Given the description of an element on the screen output the (x, y) to click on. 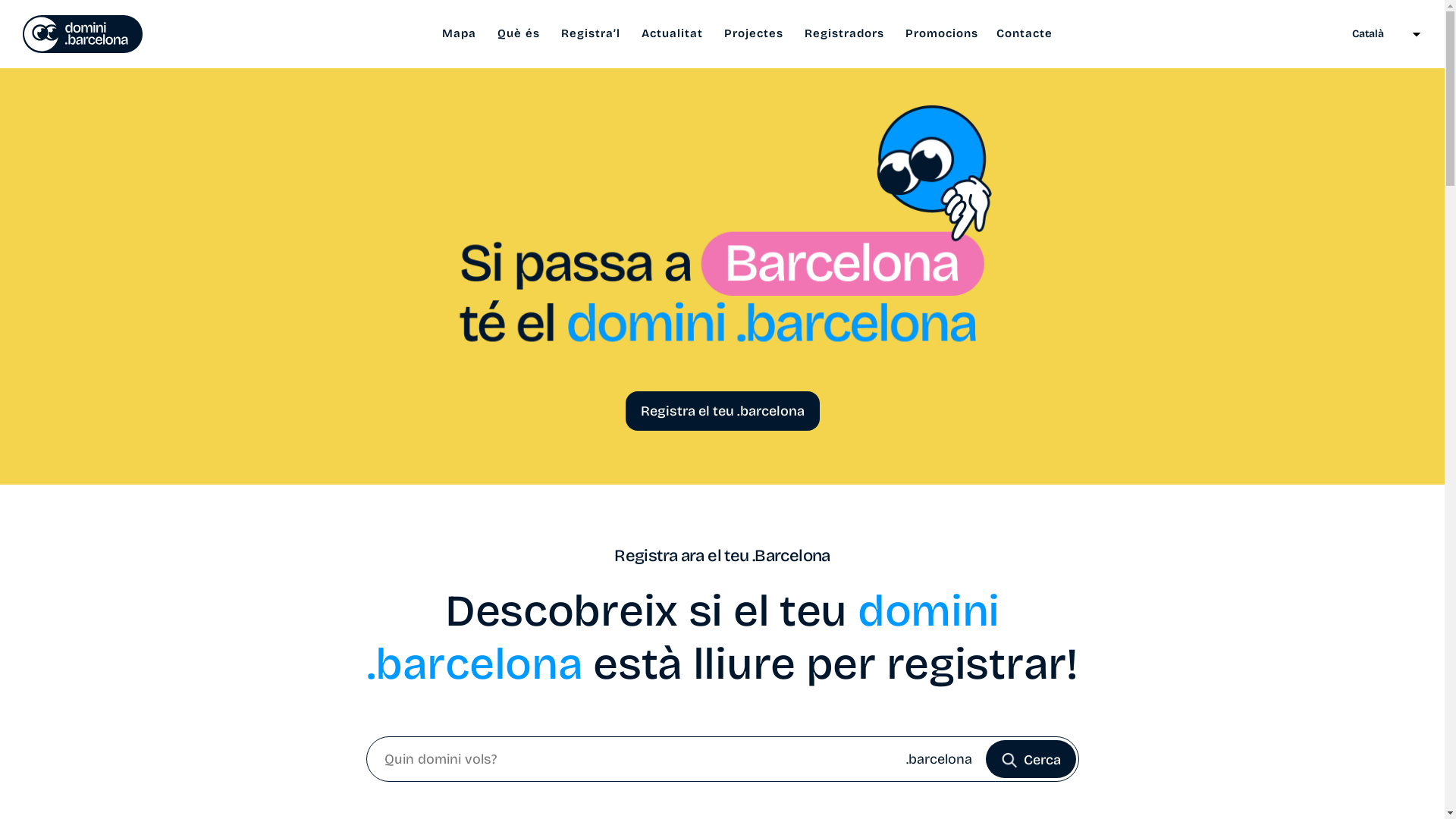
Actualitat Element type: text (672, 33)
Promocions Element type: text (941, 33)
Contacte Element type: text (1024, 33)
Mapa Element type: text (459, 33)
Registra el teu .barcelona Element type: text (721, 410)
Registradors Element type: text (844, 33)
Cerca Element type: text (1030, 759)
Projectes Element type: text (753, 33)
